Given the description of an element on the screen output the (x, y) to click on. 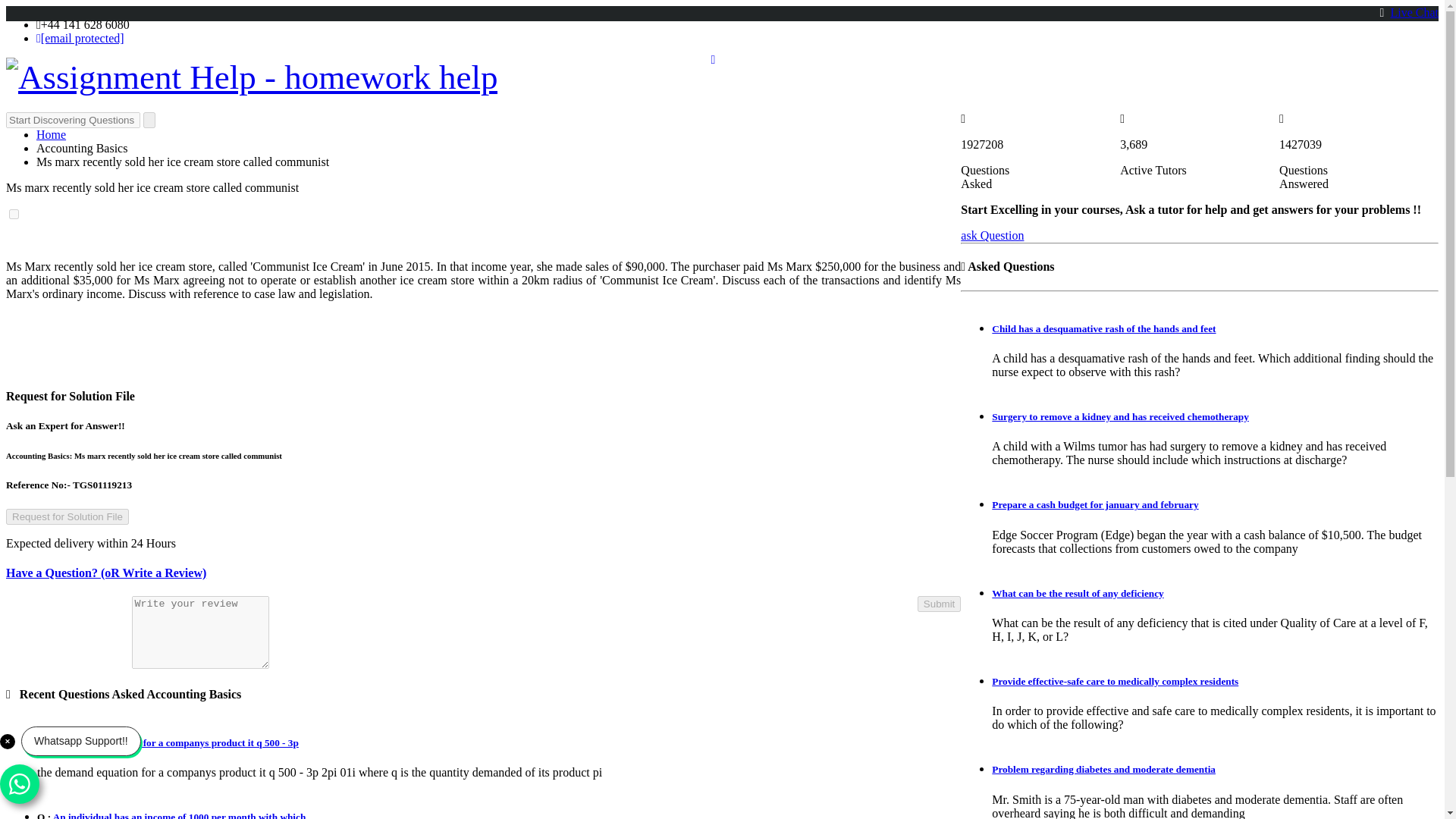
Problem regarding diabetes and moderate dementia (1103, 768)
What can be the result of any deficiency (1077, 593)
An individual has an income of 1000 per month with which (178, 815)
ask Question (991, 235)
Provide effective-safe care to medically complex residents (1115, 681)
on (13, 214)
Submit (938, 603)
Home (50, 133)
Te demand equation for a companys product it q 500 - 3p (175, 742)
Request for Solution File (67, 516)
Surgery to remove a kidney and has received chemotherapy (1120, 416)
Prepare a cash budget for january and february (1094, 504)
Child has a desquamative rash of the hands and feet (1103, 328)
Submit (938, 603)
Signup (1369, 56)
